Given the description of an element on the screen output the (x, y) to click on. 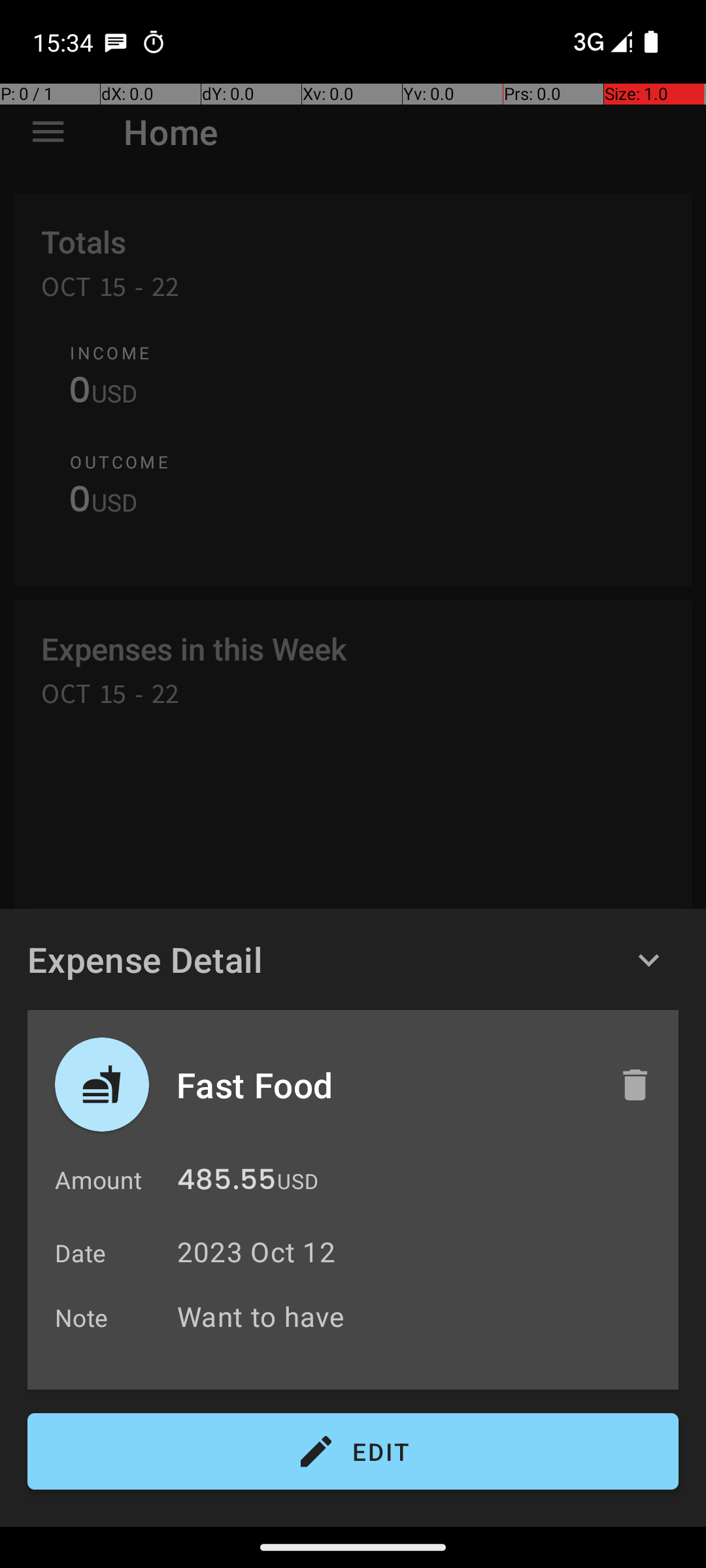
Fast Food Element type: android.widget.TextView (383, 1084)
485.55 Element type: android.widget.TextView (226, 1182)
SMS Messenger notification: Amir dos Santos Element type: android.widget.ImageView (115, 41)
